Given the description of an element on the screen output the (x, y) to click on. 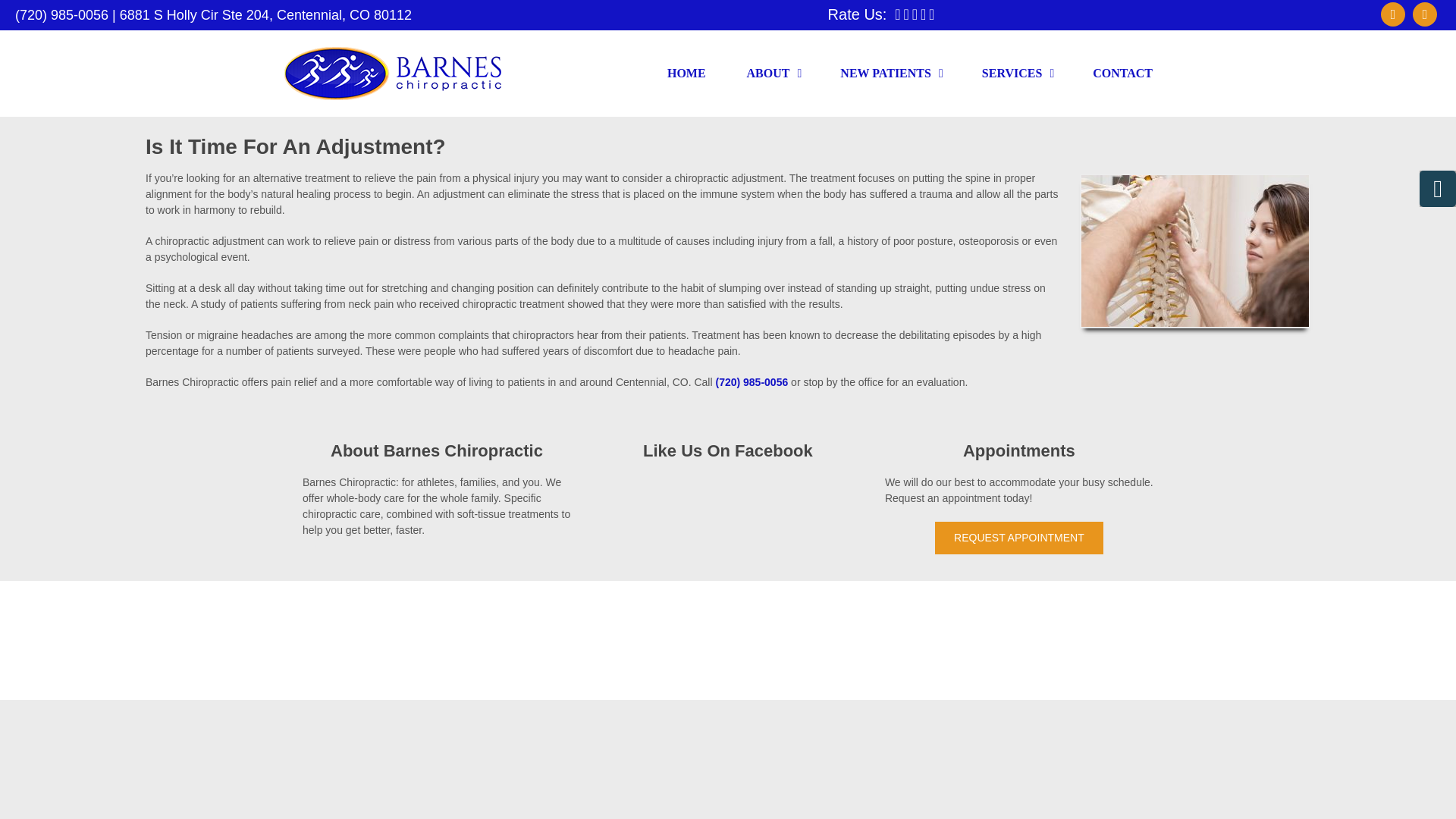
REQUEST APPOINTMENT (1018, 537)
Accessibility (669, 665)
6881 S Holly Cir Ste 204, Centennial, CO 80112 (810, 642)
Sitemap (612, 665)
NEW PATIENTS (890, 73)
SERVICES (1016, 73)
6881 S Holly Cir Ste 204, Centennial, CO 80112 (265, 14)
ABOUT (773, 73)
CONTACT (1123, 73)
HOME (686, 73)
Website by DOCTOR Multimedia (783, 665)
